Given the description of an element on the screen output the (x, y) to click on. 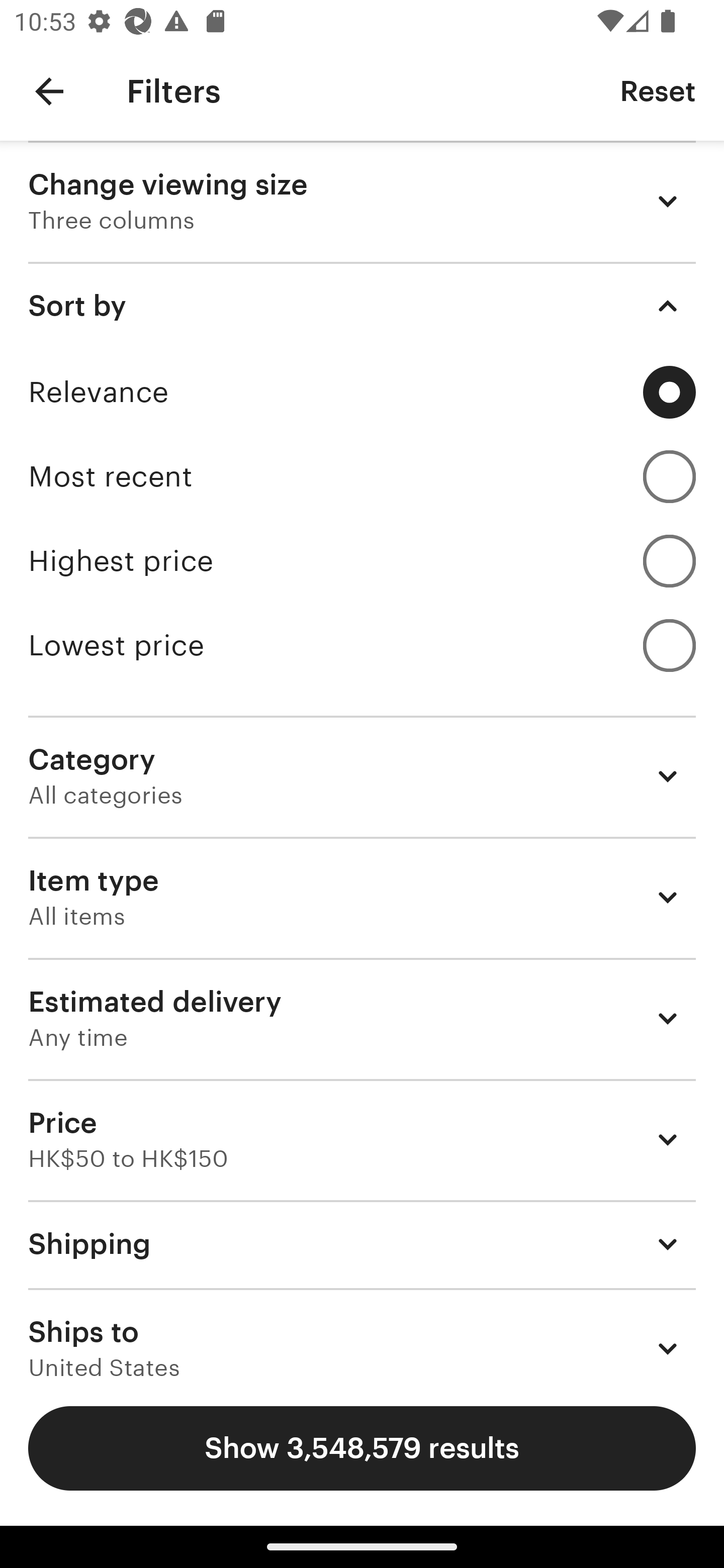
Navigate up (49, 91)
Reset (657, 90)
Change viewing size Three columns (362, 201)
Sort by (362, 305)
Relevance (362, 391)
Most recent (362, 476)
Highest price (362, 561)
Lowest price (362, 644)
Category All categories (362, 776)
Item type All items (362, 897)
Estimated delivery Any time (362, 1018)
Price HK$50 to HK$150 (362, 1138)
Shipping (362, 1243)
Ships to United States (362, 1332)
Show 3,548,579 results Show results (361, 1448)
